Given the description of an element on the screen output the (x, y) to click on. 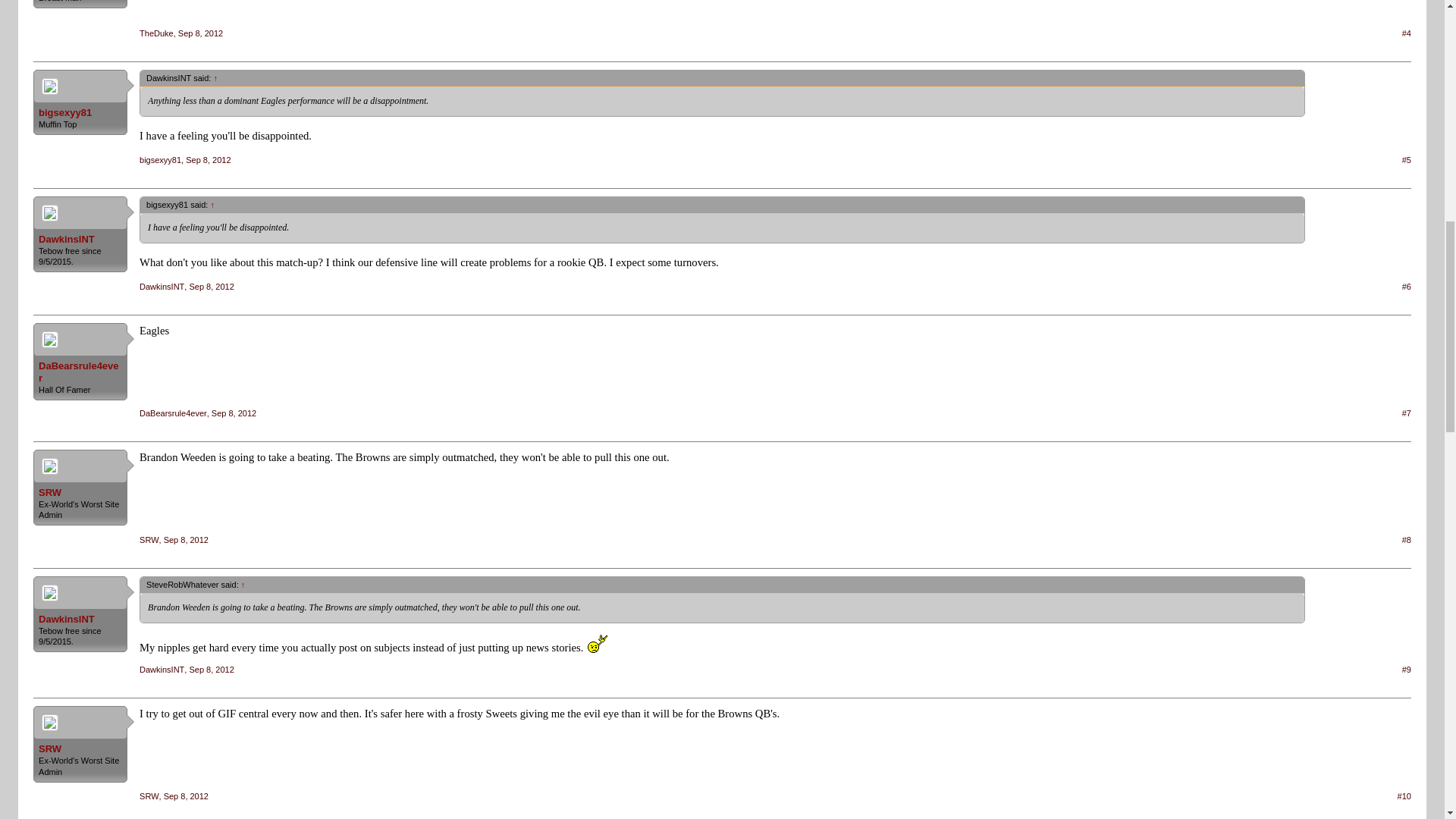
Permalink (210, 286)
Permalink (199, 32)
Sep 8, 2012 (199, 32)
Permalink (208, 159)
TheDuke (156, 32)
